Given the description of an element on the screen output the (x, y) to click on. 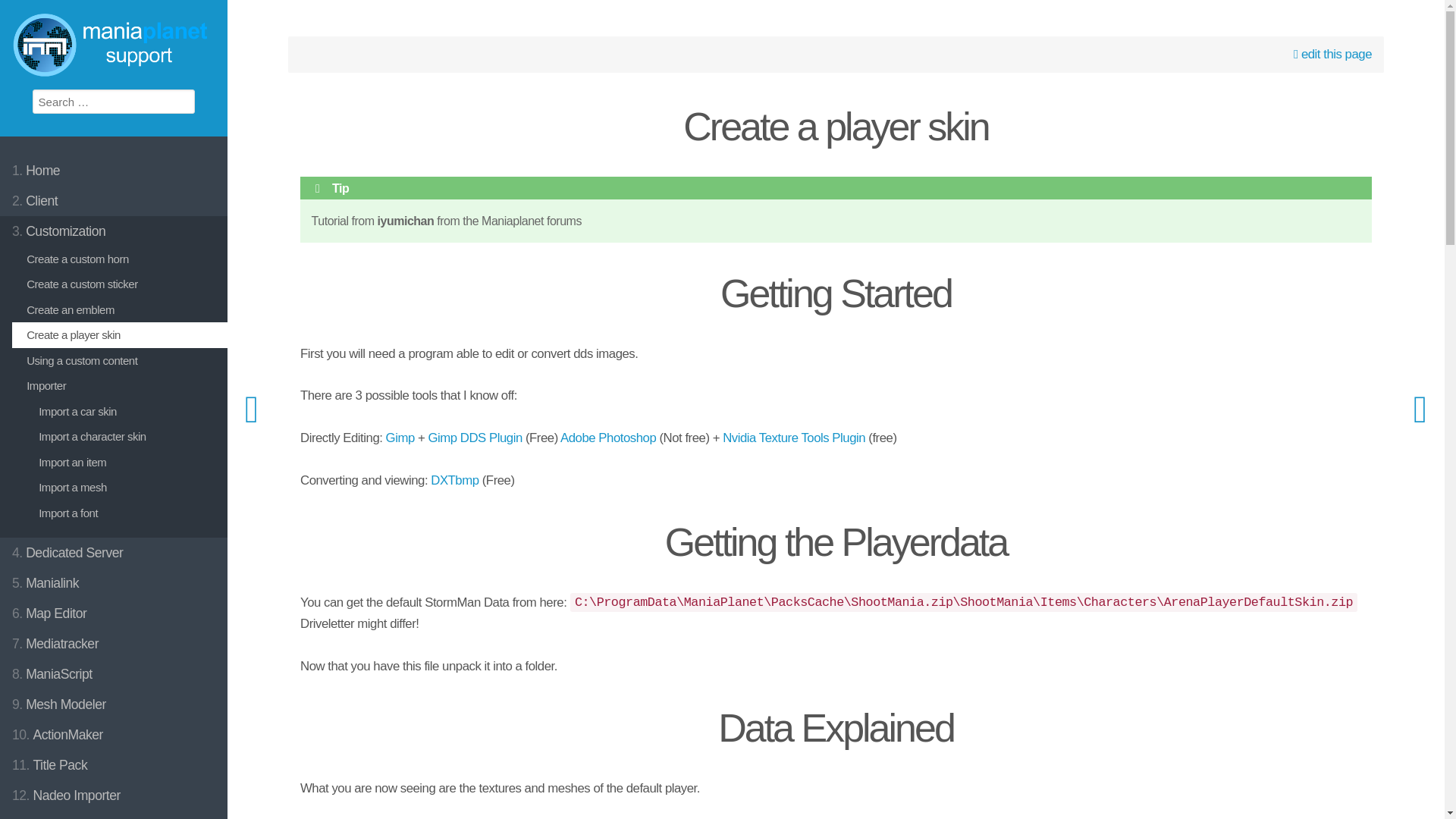
Create an emblem (119, 309)
Import a mesh (125, 487)
1. Home (113, 170)
Import a car skin (125, 411)
Create a custom sticker (119, 284)
Import a character skin (125, 436)
4. Dedicated Server (113, 552)
Import a font (125, 513)
3. Customization (113, 231)
Create a custom horn (119, 258)
